Given the description of an element on the screen output the (x, y) to click on. 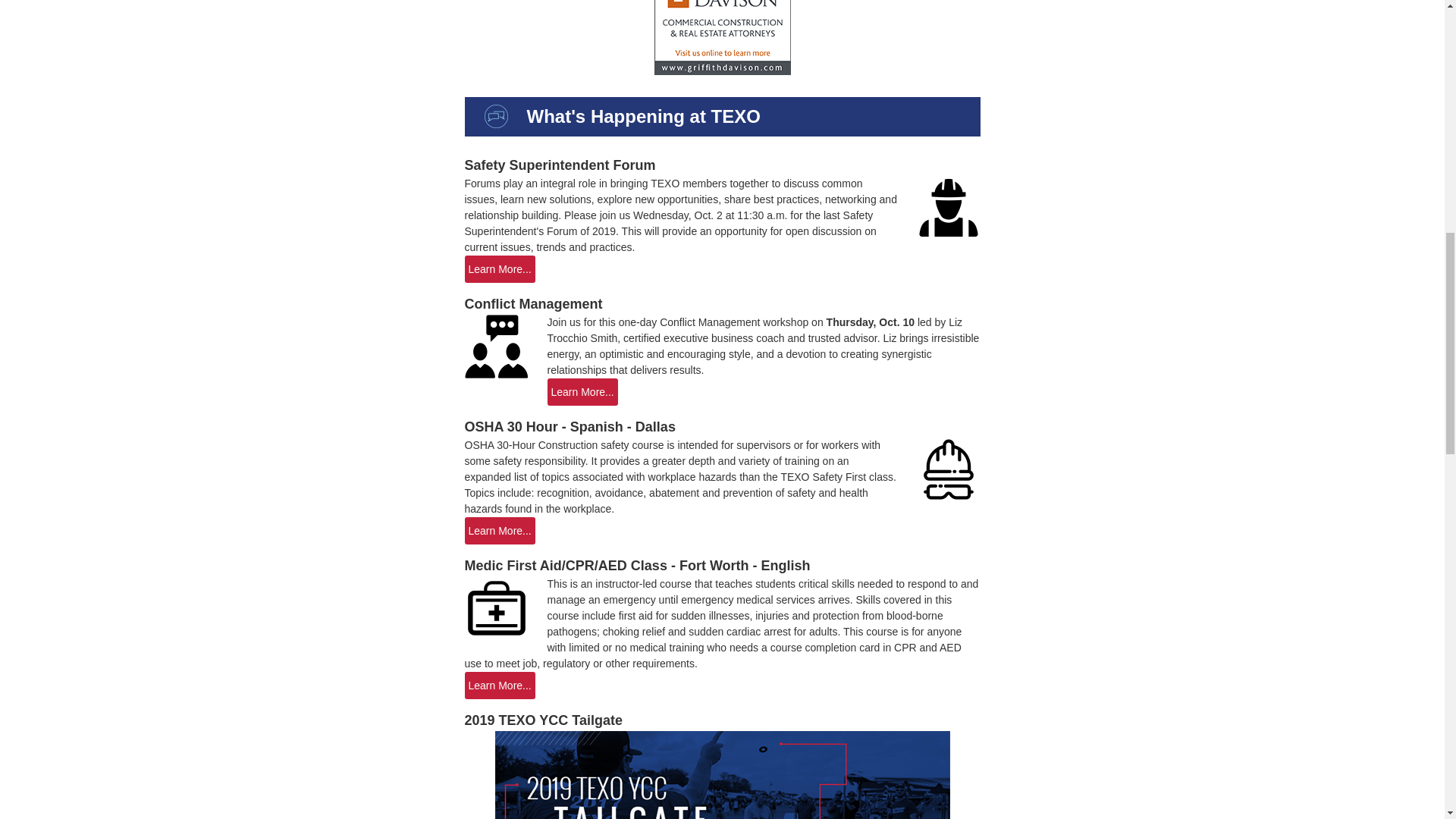
Learn More... (499, 530)
Learn More... (499, 268)
OSHA 30 Hour - Spanish - Dallas (569, 426)
Learn More... (582, 391)
Learn More... (499, 685)
2019 TEXO YCC Tailgate (542, 720)
Safety Superintendent Forum (559, 165)
Conflict Management (533, 304)
What's Happening at TEXO (494, 116)
